Given the description of an element on the screen output the (x, y) to click on. 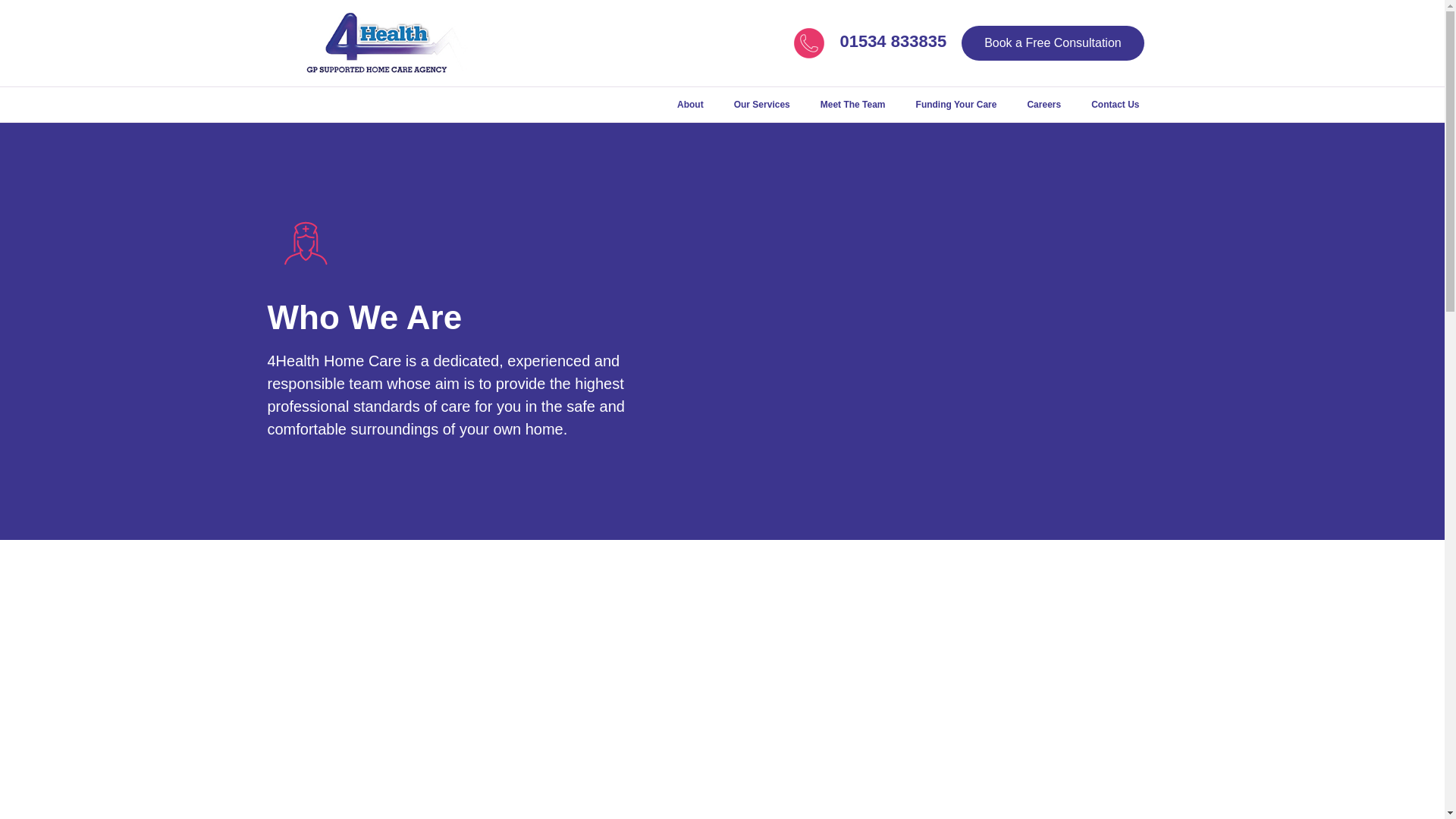
Meet The Team (853, 104)
Qualified Nurses (304, 248)
Contact Us (1114, 104)
Our Services (762, 104)
About (690, 104)
Contact (808, 42)
Funding Your Care (956, 104)
Careers (1043, 104)
Book a Free Consultation (1052, 42)
